Given the description of an element on the screen output the (x, y) to click on. 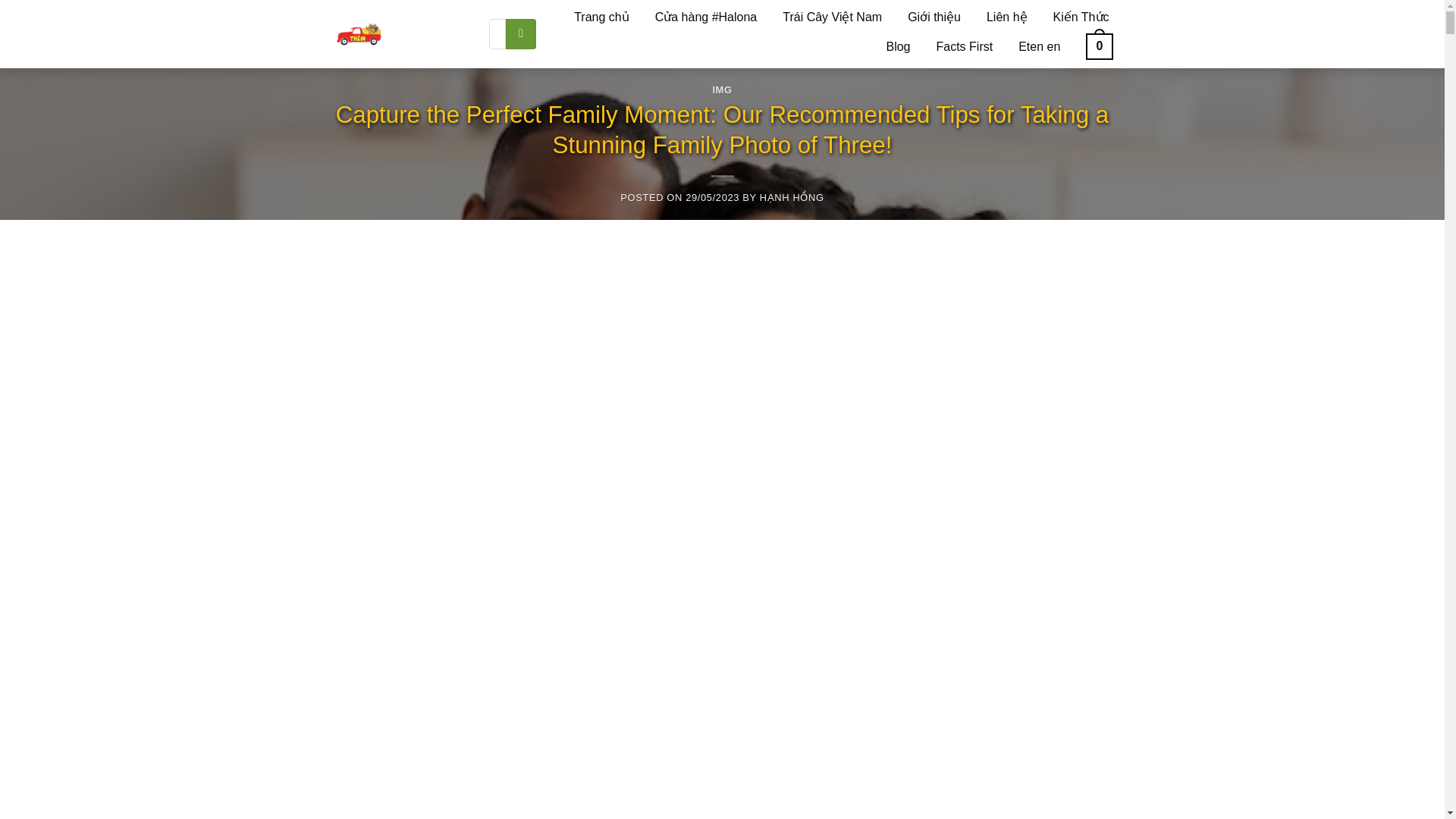
0 (1098, 46)
Blog (897, 46)
Eten en (1038, 46)
Facts First (964, 46)
IMG (721, 89)
